Given the description of an element on the screen output the (x, y) to click on. 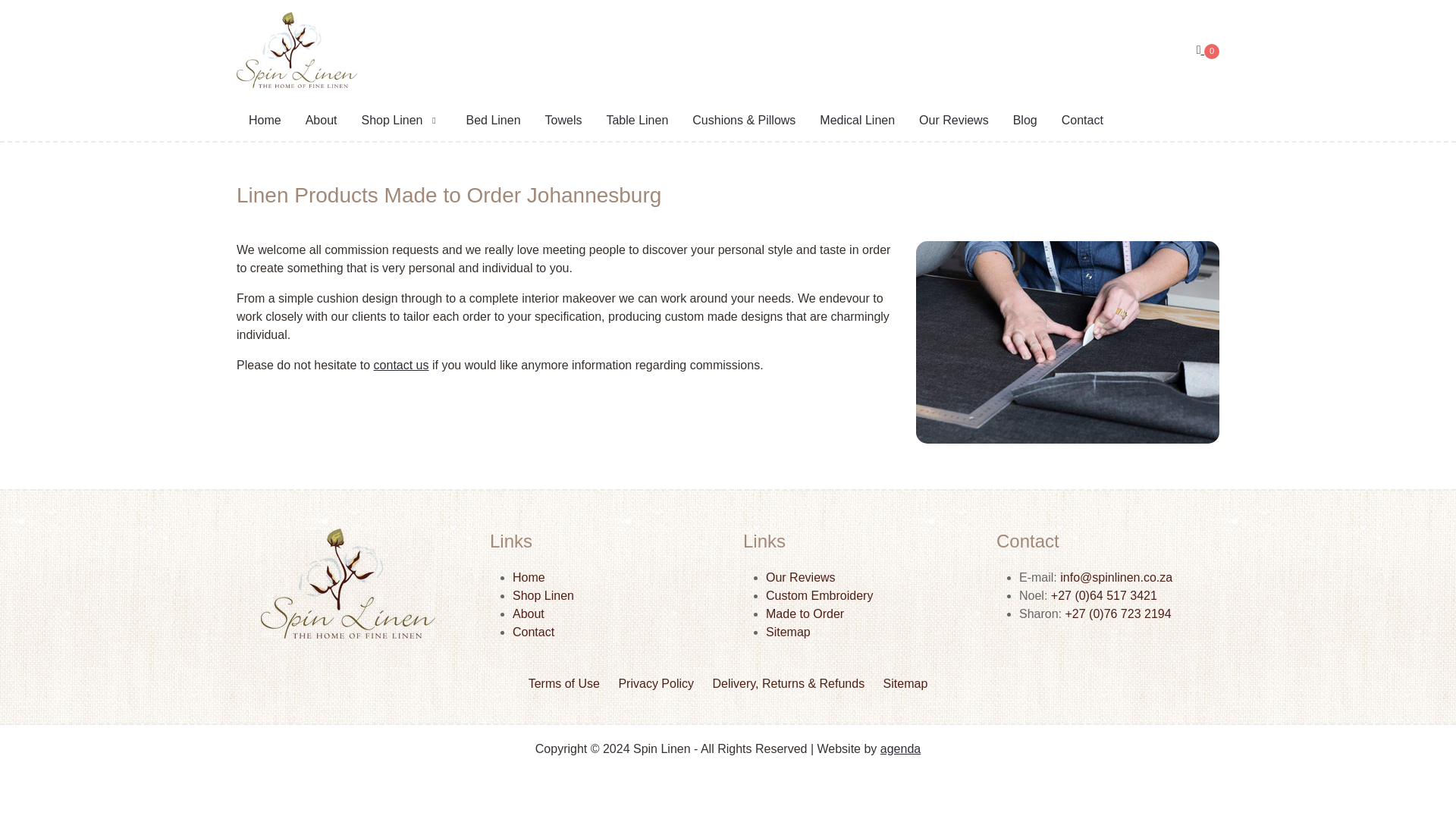
Contact (1082, 120)
Shop Linen (400, 120)
Shop Linen (400, 120)
Medical Linen (857, 120)
Blog (1025, 120)
Table Linen (636, 120)
Contact (533, 631)
Bed Linen (492, 120)
contact us (401, 364)
Home (264, 120)
Towels (563, 120)
Shop Linen (542, 594)
Custom Embroidery (818, 594)
About (321, 120)
0 (1208, 49)
